Given the description of an element on the screen output the (x, y) to click on. 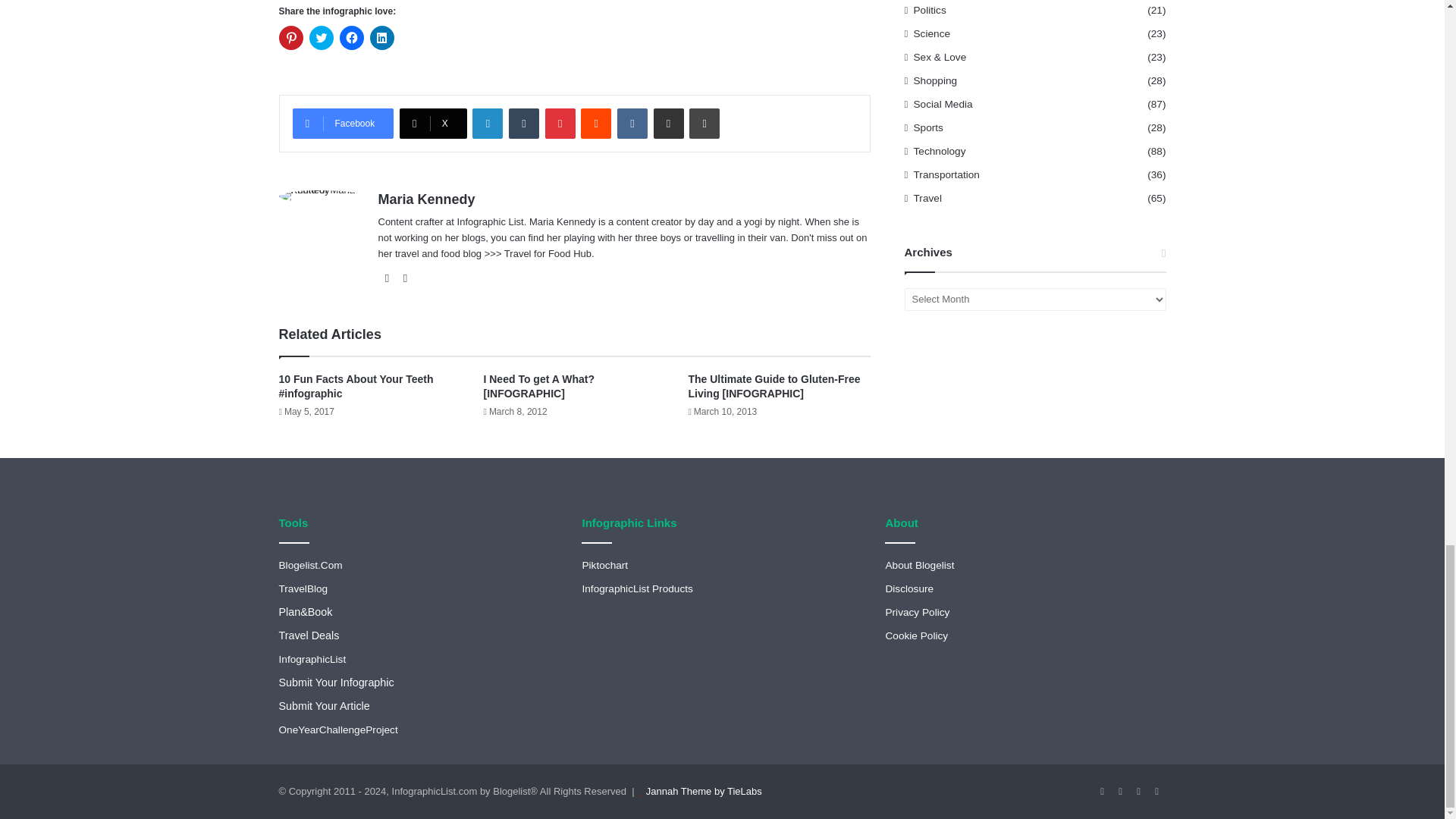
Reddit (595, 123)
Facebook (343, 123)
Share via Email (668, 123)
Print (703, 123)
Reddit (595, 123)
VKontakte (632, 123)
Click to share on Pinterest (290, 37)
Click to share on Twitter (320, 37)
Click to share on Facebook (351, 37)
X (432, 123)
